Given the description of an element on the screen output the (x, y) to click on. 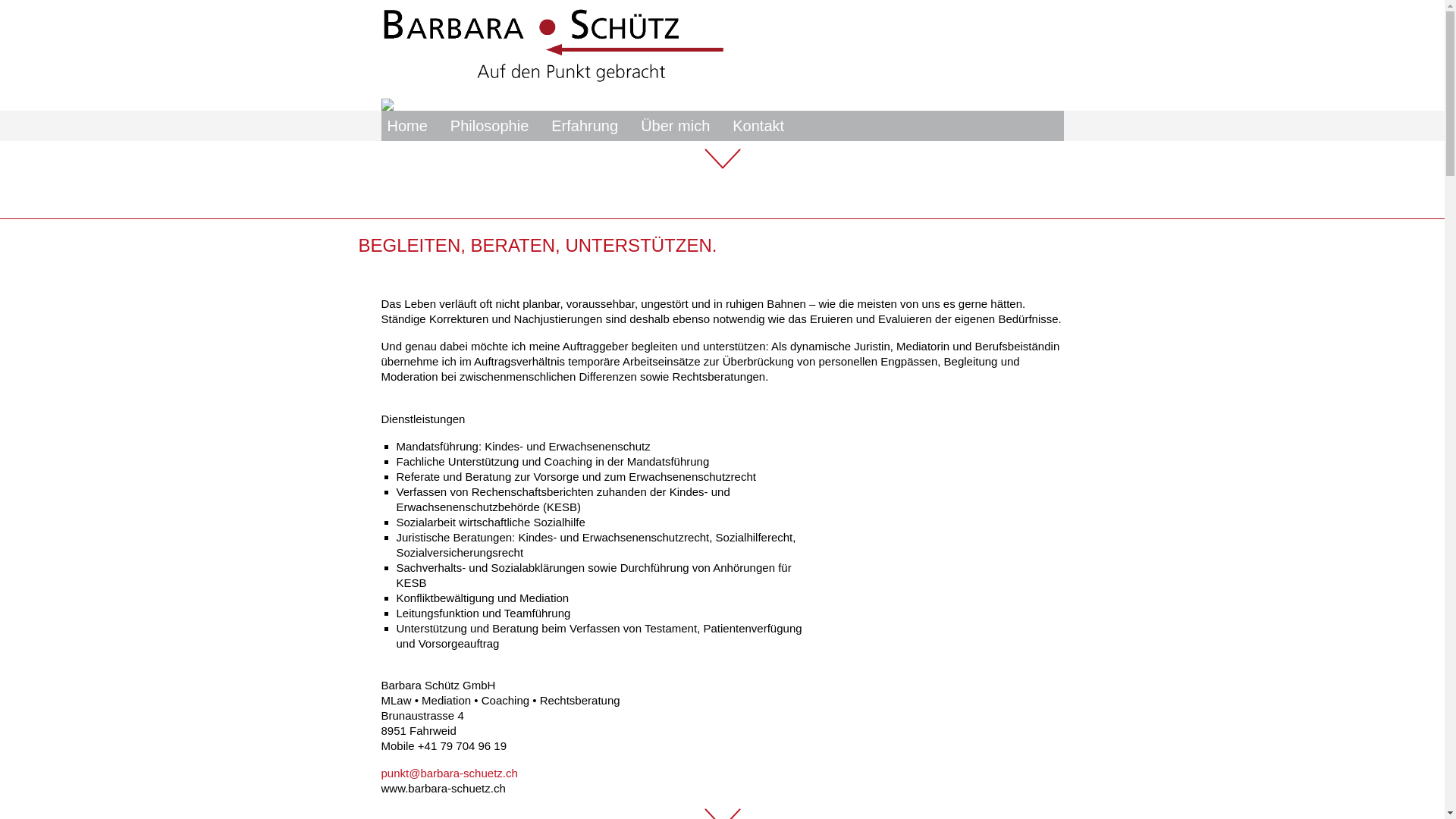
Philosophie Element type: text (489, 125)
Home Element type: text (406, 125)
Kontakt Element type: text (758, 125)
scroll next  Element type: hover (721, 158)
punkt@barbara-schuetz.ch Element type: text (448, 772)
Erfahrung Element type: text (584, 125)
